Given the description of an element on the screen output the (x, y) to click on. 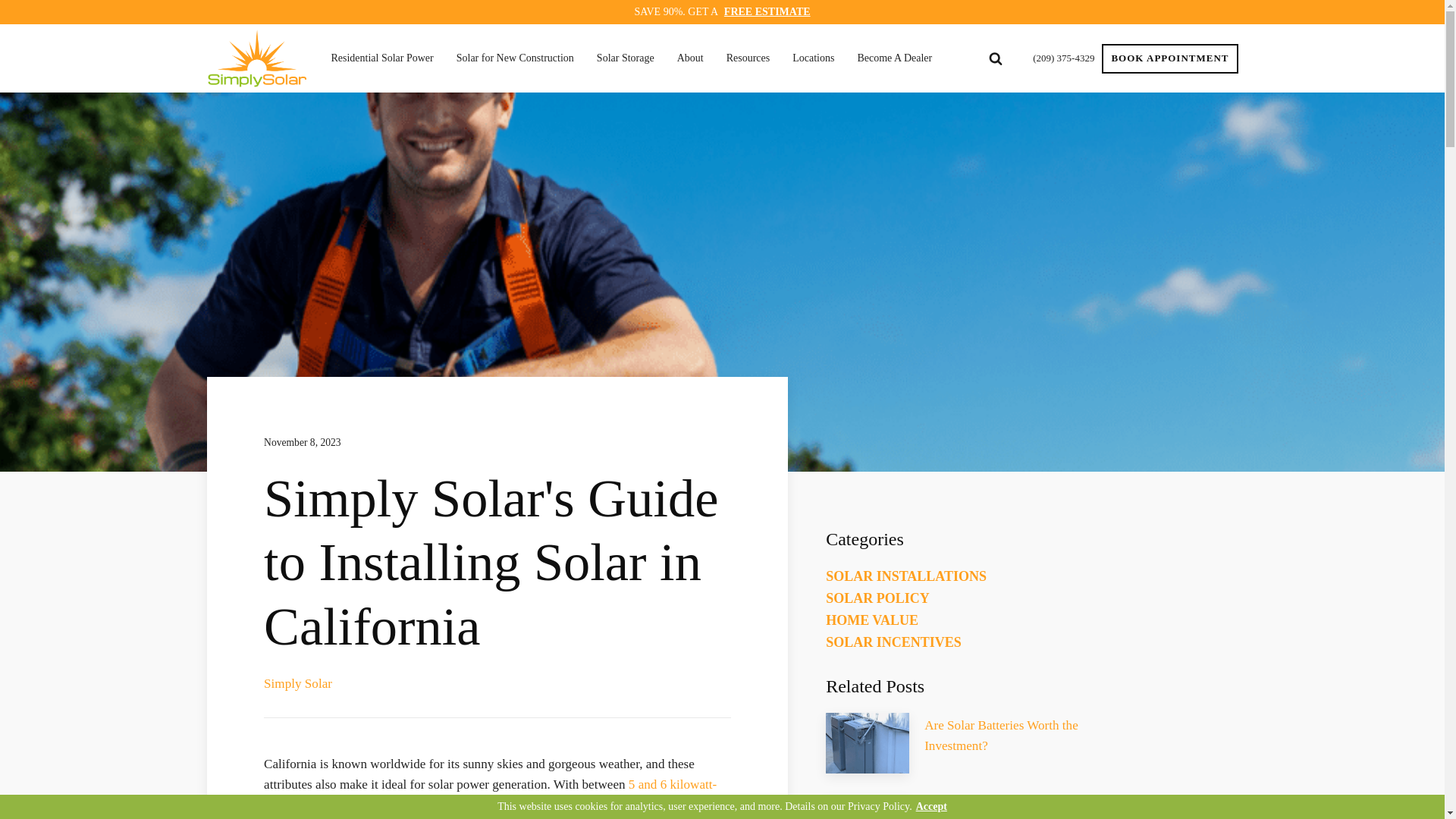
Solar Storage (629, 57)
Residential Solar Power (385, 57)
